Given the description of an element on the screen output the (x, y) to click on. 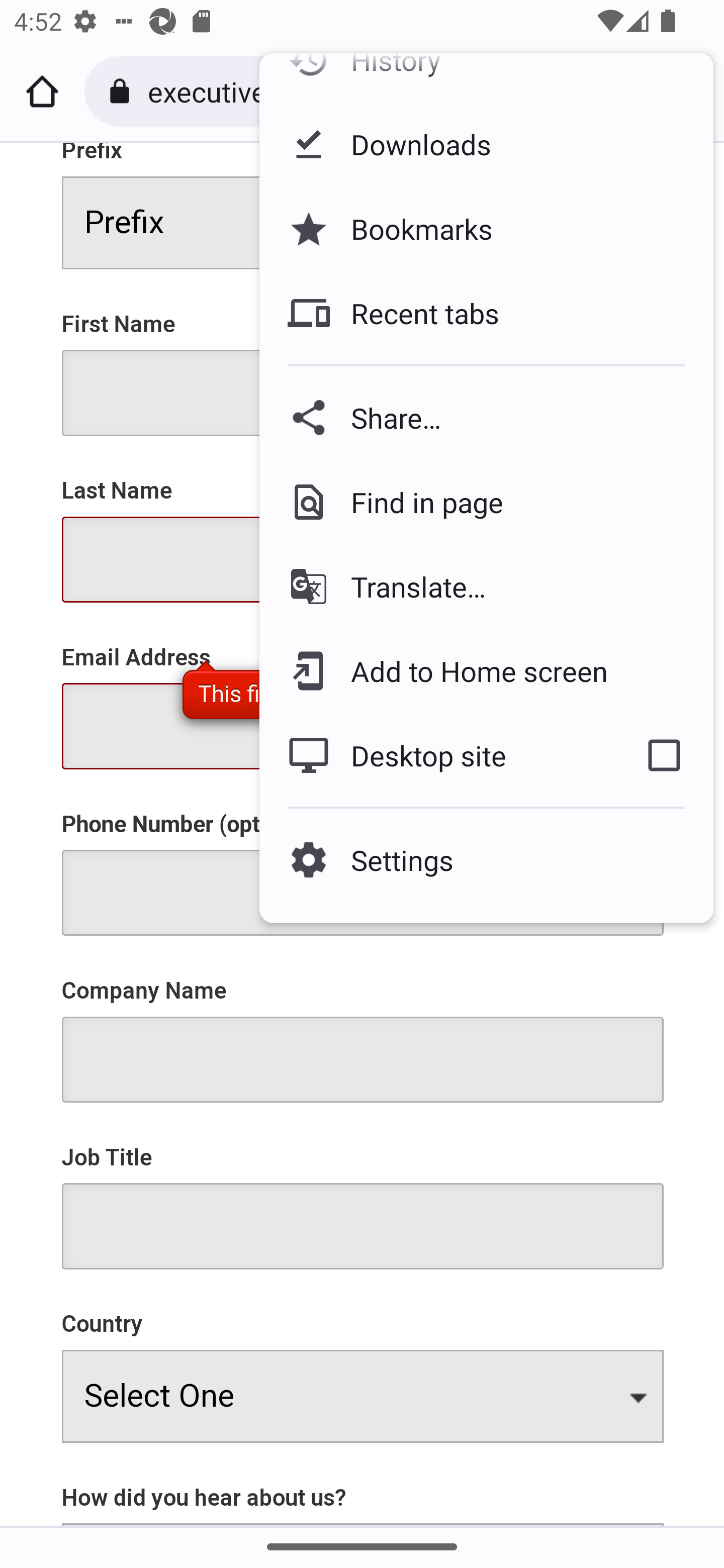
Downloads (486, 143)
Bookmarks (486, 228)
Recent tabs (486, 313)
Share… (486, 416)
Find in page (486, 501)
Translate… (486, 586)
Add to Home screen (486, 670)
Desktop site Turn on Request desktop site (436, 755)
Settings (486, 858)
